Given the description of an element on the screen output the (x, y) to click on. 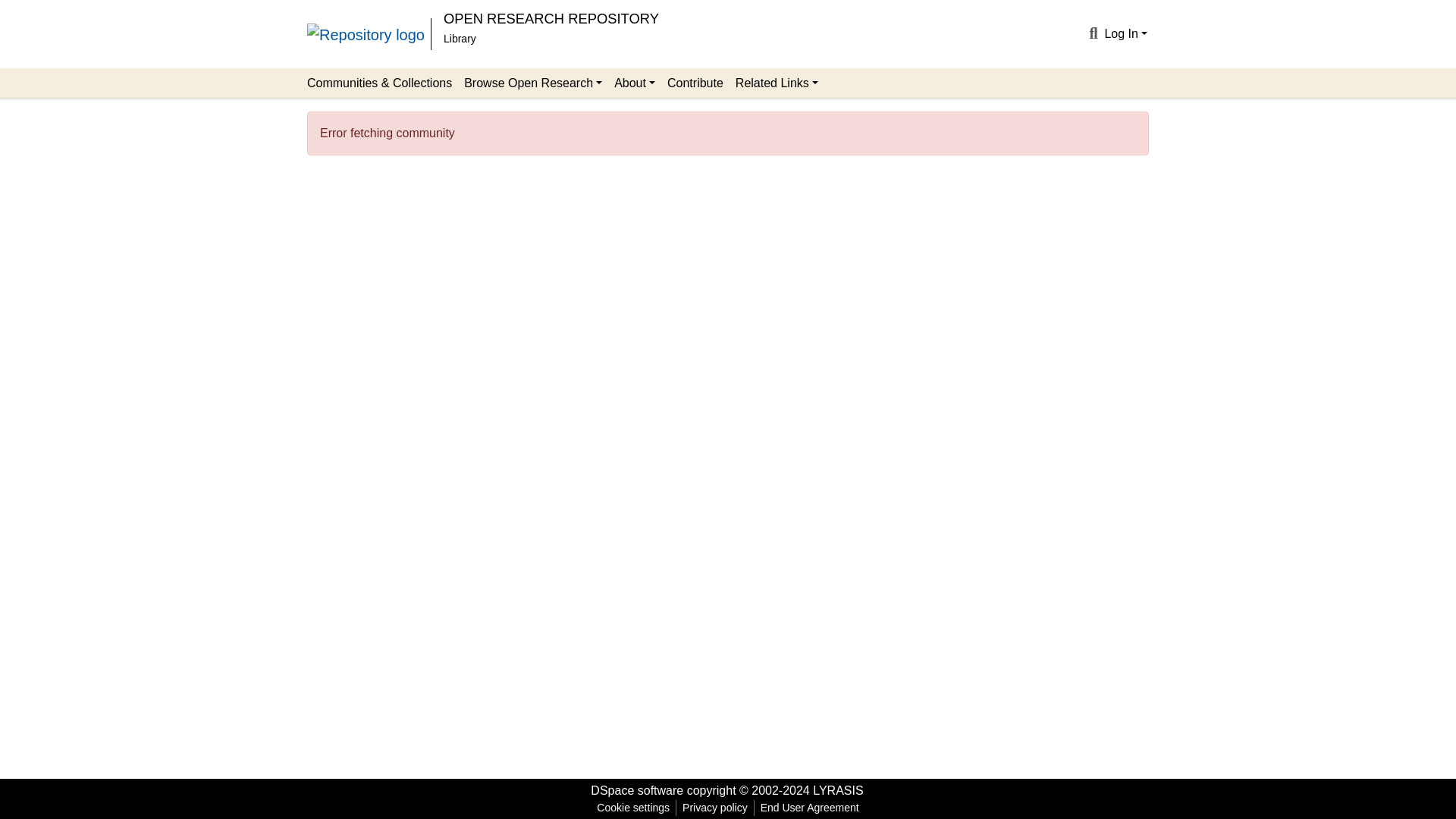
Privacy policy (715, 807)
End User Agreement (809, 807)
Library (460, 38)
OPEN RESEARCH REPOSITORY (551, 18)
Cookie settings (633, 807)
LYRASIS (837, 789)
Log In (1125, 33)
Contribute (695, 82)
About (634, 82)
Browse Open Research (533, 82)
DSpace software (636, 789)
Related Links (776, 82)
Search (1092, 34)
Contribute (695, 82)
